Given the description of an element on the screen output the (x, y) to click on. 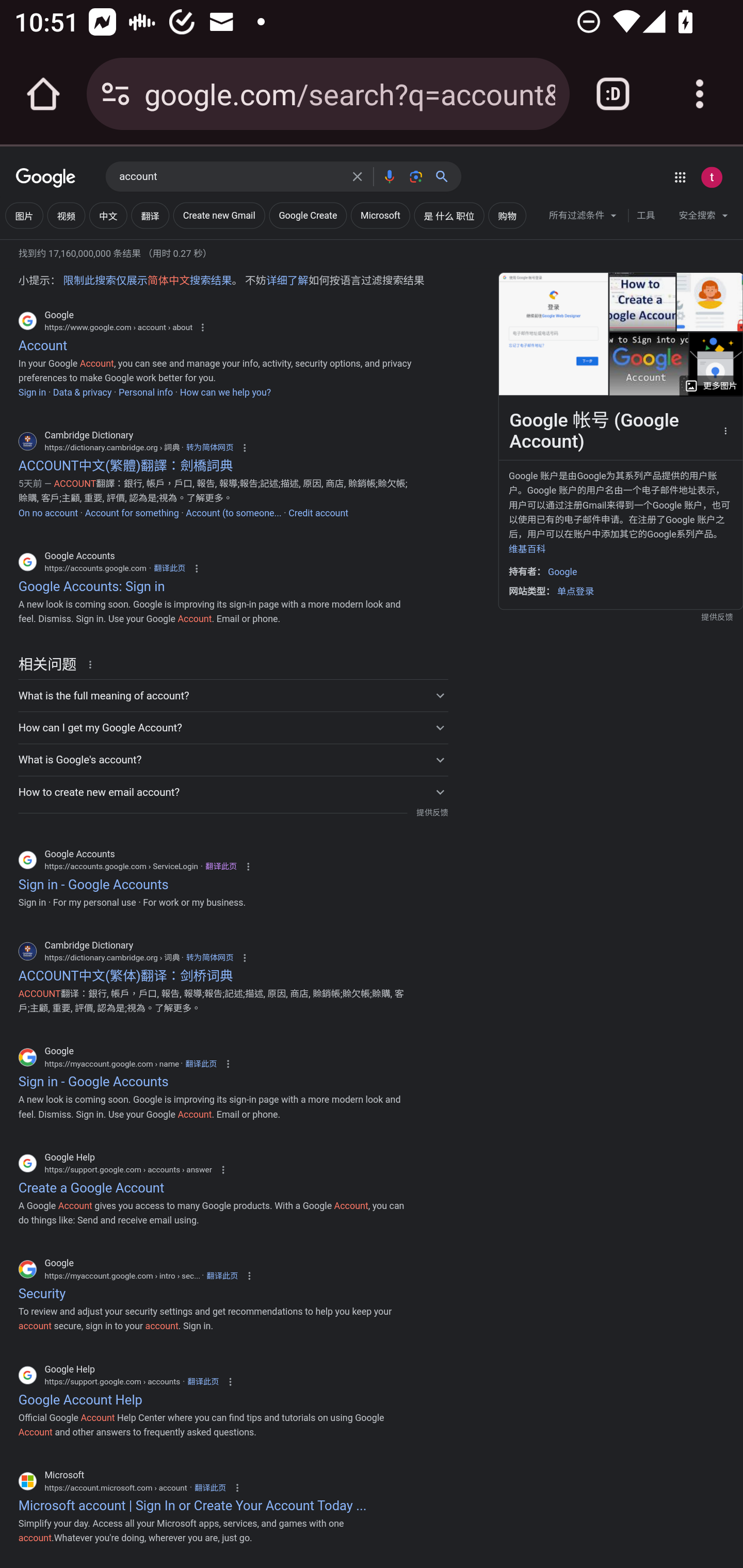
Open the home page (43, 93)
Connection is secure (115, 93)
Switch or close tabs (612, 93)
Customize and control Google Chrome (699, 93)
清除 (357, 176)
按语音搜索 (388, 176)
按图搜索 (415, 176)
搜索 (445, 176)
Google 应用 (679, 176)
Google 账号： test appium (testappium002@gmail.com) (711, 176)
Google (45, 178)
account (229, 177)
图片 (24, 215)
视频 (65, 215)
添加“中文” 中文 (107, 215)
添加“翻译” 翻译 (149, 215)
添加“Create new Gmail” Create new Gmail (218, 215)
添加“Google Create” Google Create (307, 215)
添加“Microsoft” Microsoft (380, 215)
添加“是 什么 职位” 是 什么 职位 (449, 215)
购物 (506, 215)
所有过滤条件 (583, 217)
工具 (645, 215)
安全搜索 (703, 217)
限制此搜索仅展示简体中文搜索结果 限制此搜索仅展示 简体中文 搜索结果 (146, 280)
详细了解 (287, 280)
Sign in (31, 392)
Data & privacy (82, 392)
Personal info (145, 392)
How can we help you? (225, 392)
转为简体网页 (209, 448)
On no account (47, 512)
Account for something (131, 512)
Account (to someone... (233, 512)
Credit account (318, 512)
翻译此页 (169, 567)
关于这条结果的详细信息 (93, 663)
What is the full meaning of account? (232, 694)
How can I get my Google Account? (232, 727)
What is Google's account? (232, 759)
How to create new email account? (232, 790)
提供反馈 (432, 812)
翻译此页 (221, 866)
转为简体网页 (209, 957)
翻译此页 (200, 1062)
翻译此页 (221, 1276)
翻译此页 (202, 1381)
翻译此页 (209, 1487)
